Given the description of an element on the screen output the (x, y) to click on. 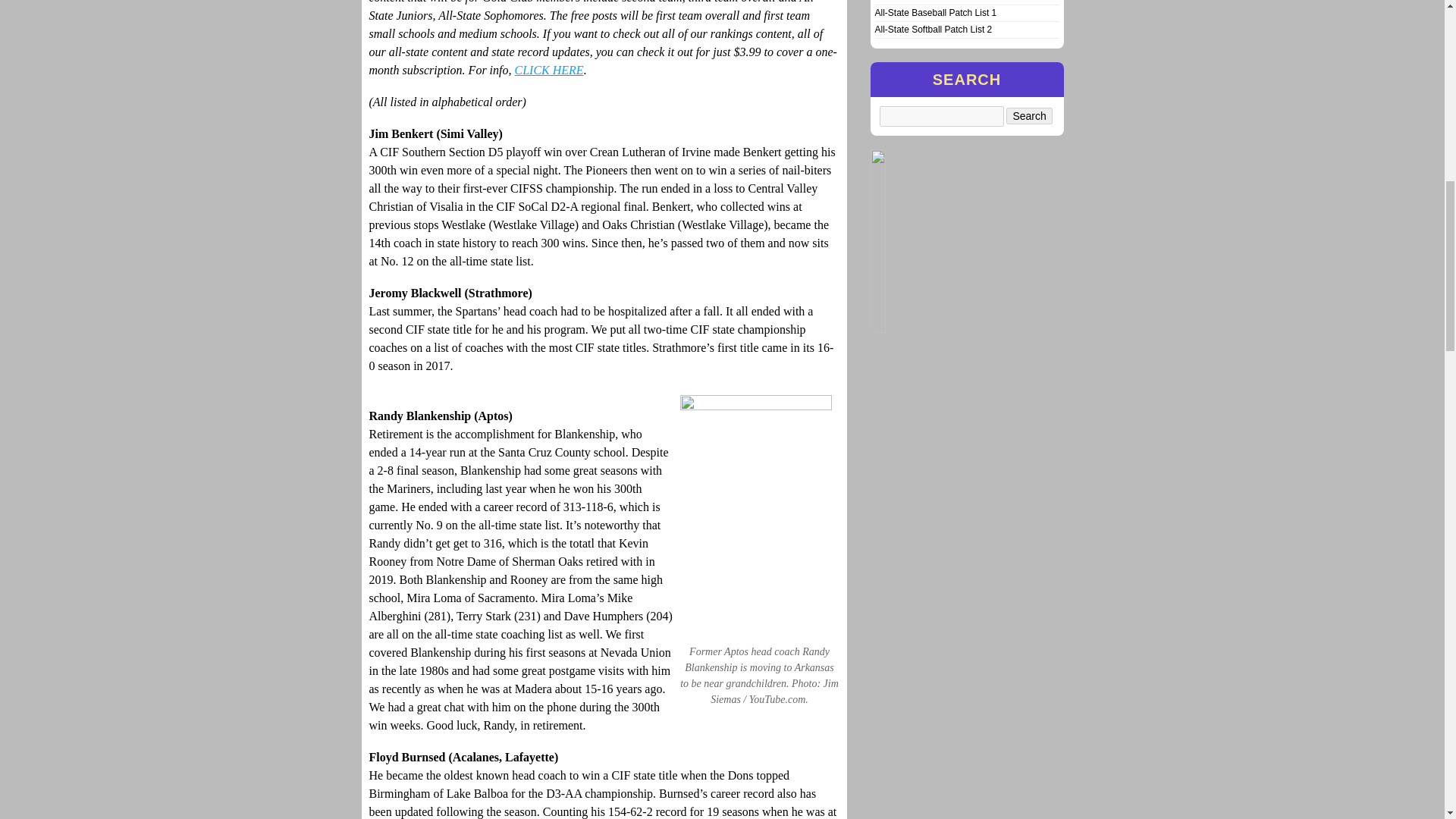
Permalink to All-State Baseball Patch List 2 (936, 0)
Permalink to All-State Baseball Patch List 1 (936, 12)
Permalink to All-State Softball Patch List 2 (933, 29)
Search (1028, 115)
